Given the description of an element on the screen output the (x, y) to click on. 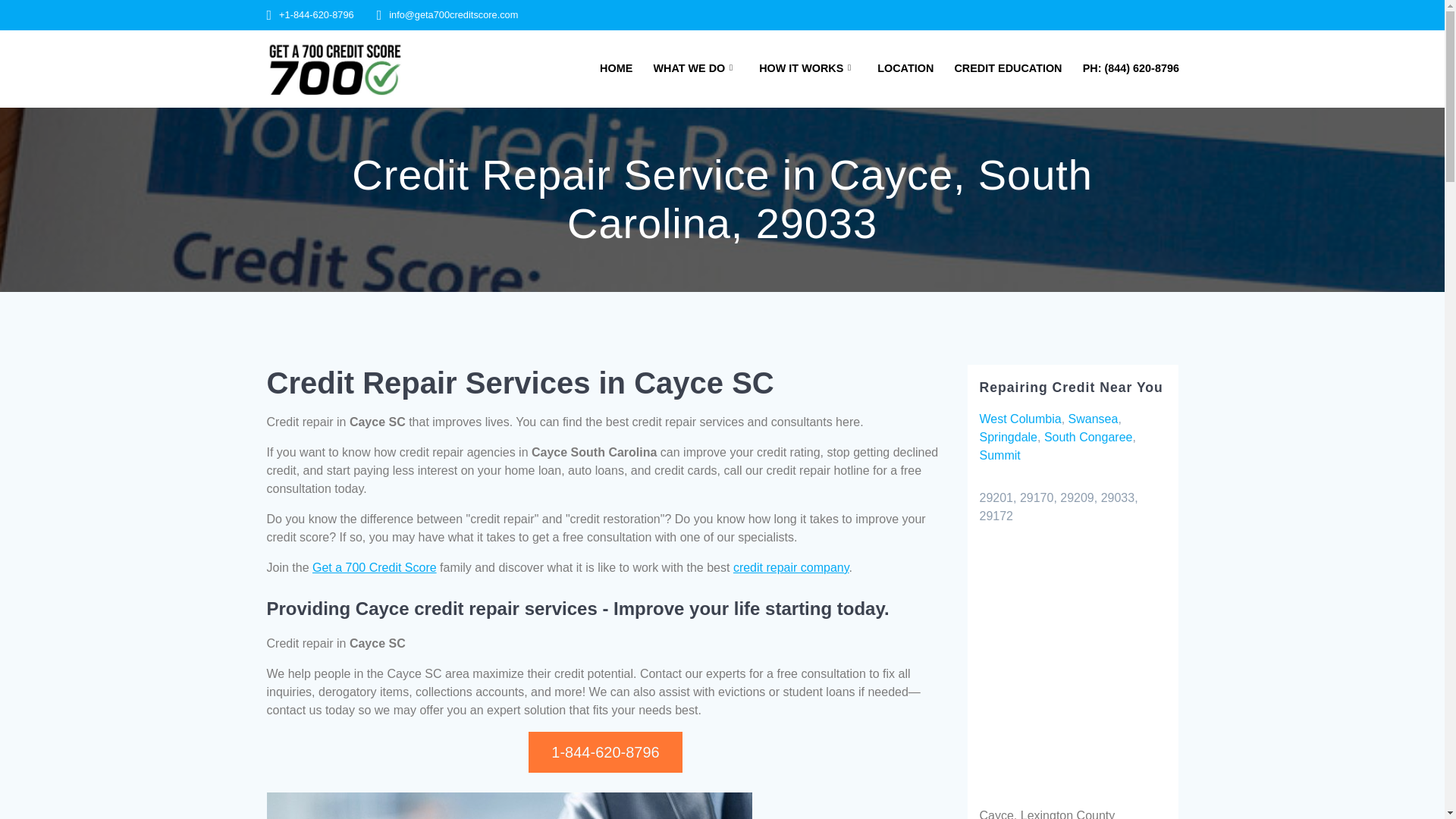
HOW IT WORKS (807, 67)
Springdale (1008, 436)
CREDIT EDUCATION (1007, 67)
WHAT WE DO (695, 67)
Summit (999, 454)
West Columbia (1020, 418)
credit repair company (790, 567)
1-844-620-8796 (604, 752)
South Congaree (1087, 436)
Get a 700 Credit Score (374, 567)
LOCATION (905, 67)
HOME (615, 67)
Swansea (1093, 418)
